Given the description of an element on the screen output the (x, y) to click on. 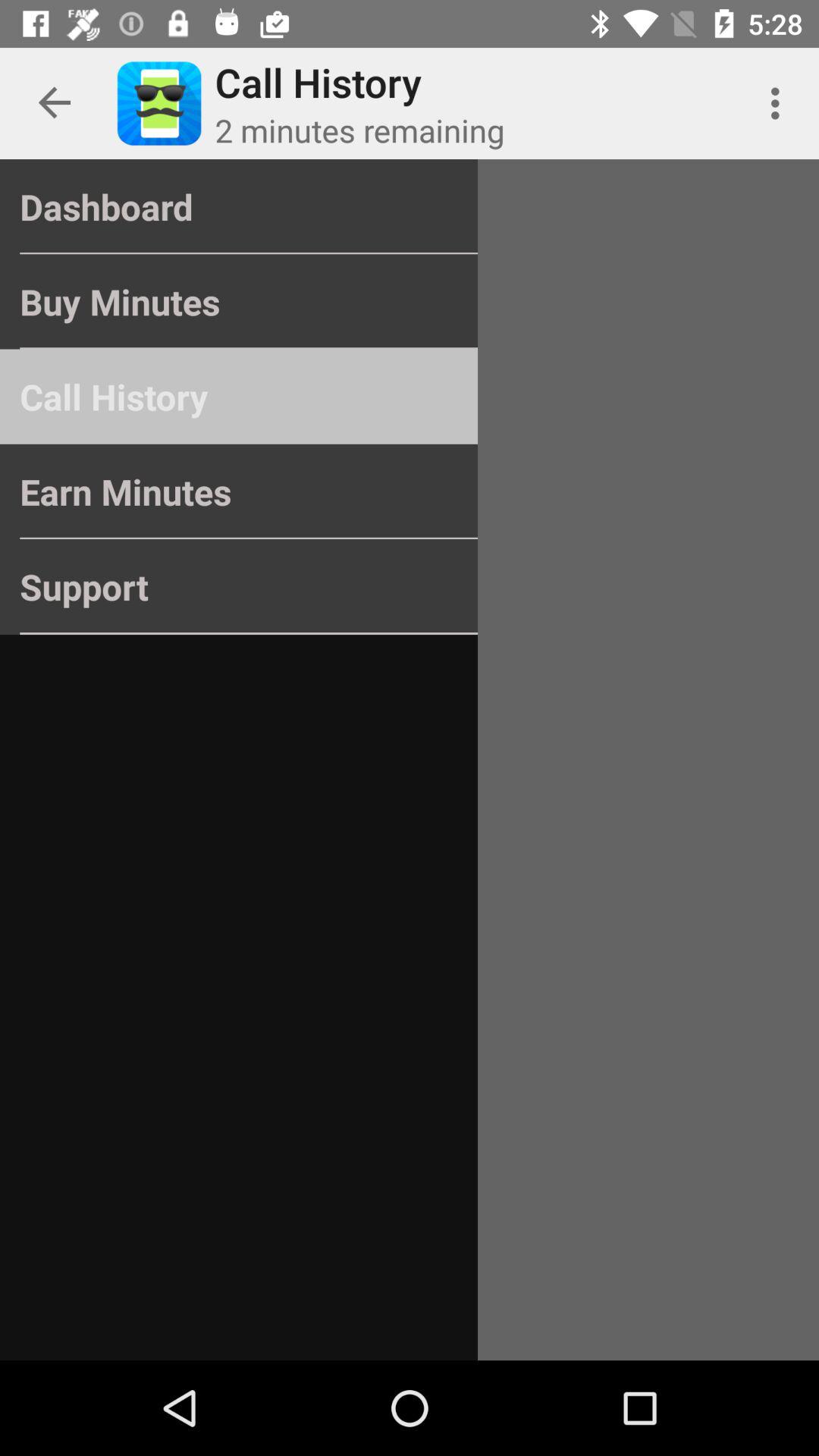
click the item below dashboard icon (238, 301)
